Given the description of an element on the screen output the (x, y) to click on. 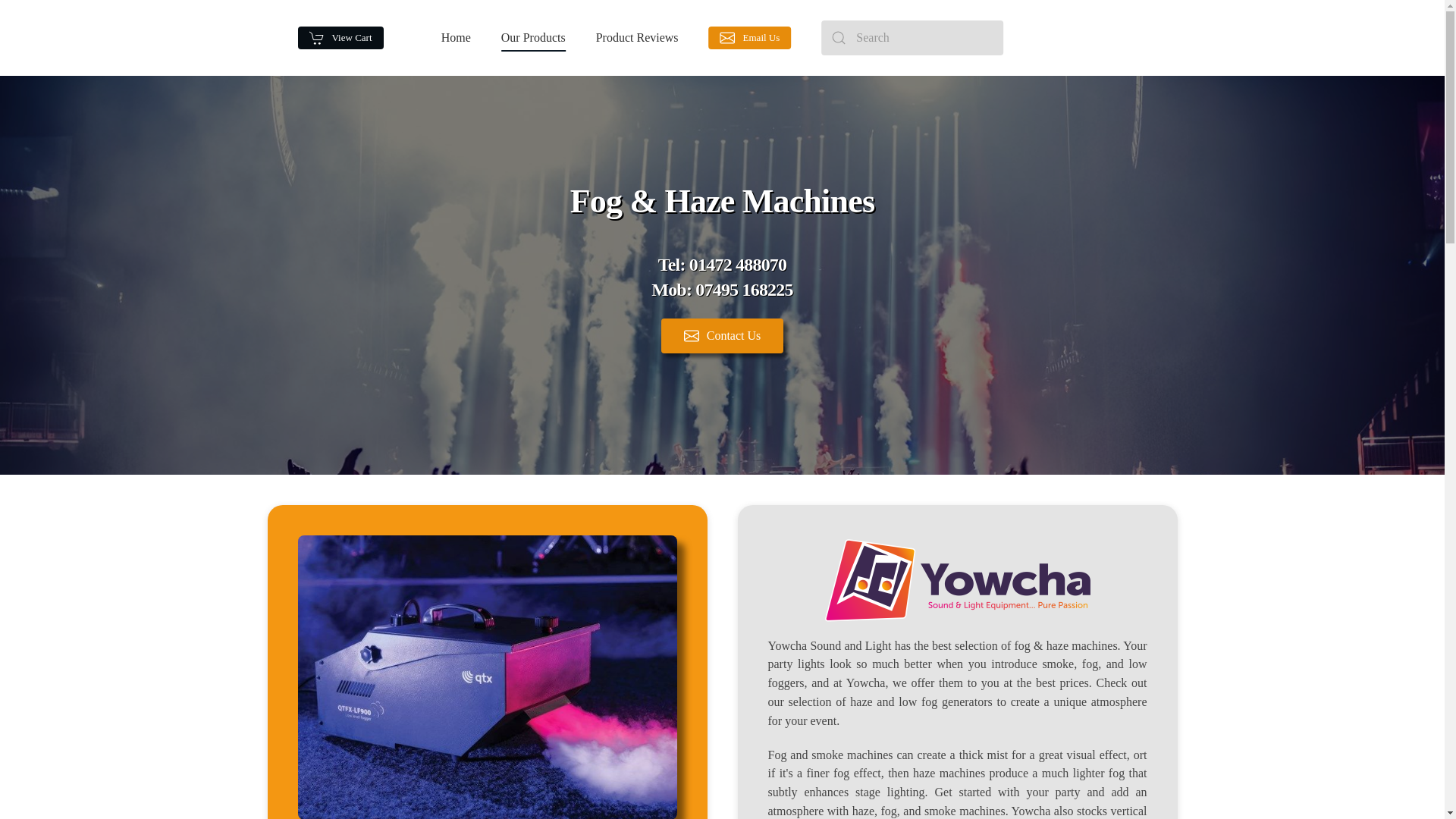
Our Products (533, 37)
Email Us (750, 37)
View Cart (339, 37)
Product Reviews (636, 37)
Contact Us (721, 277)
